Given the description of an element on the screen output the (x, y) to click on. 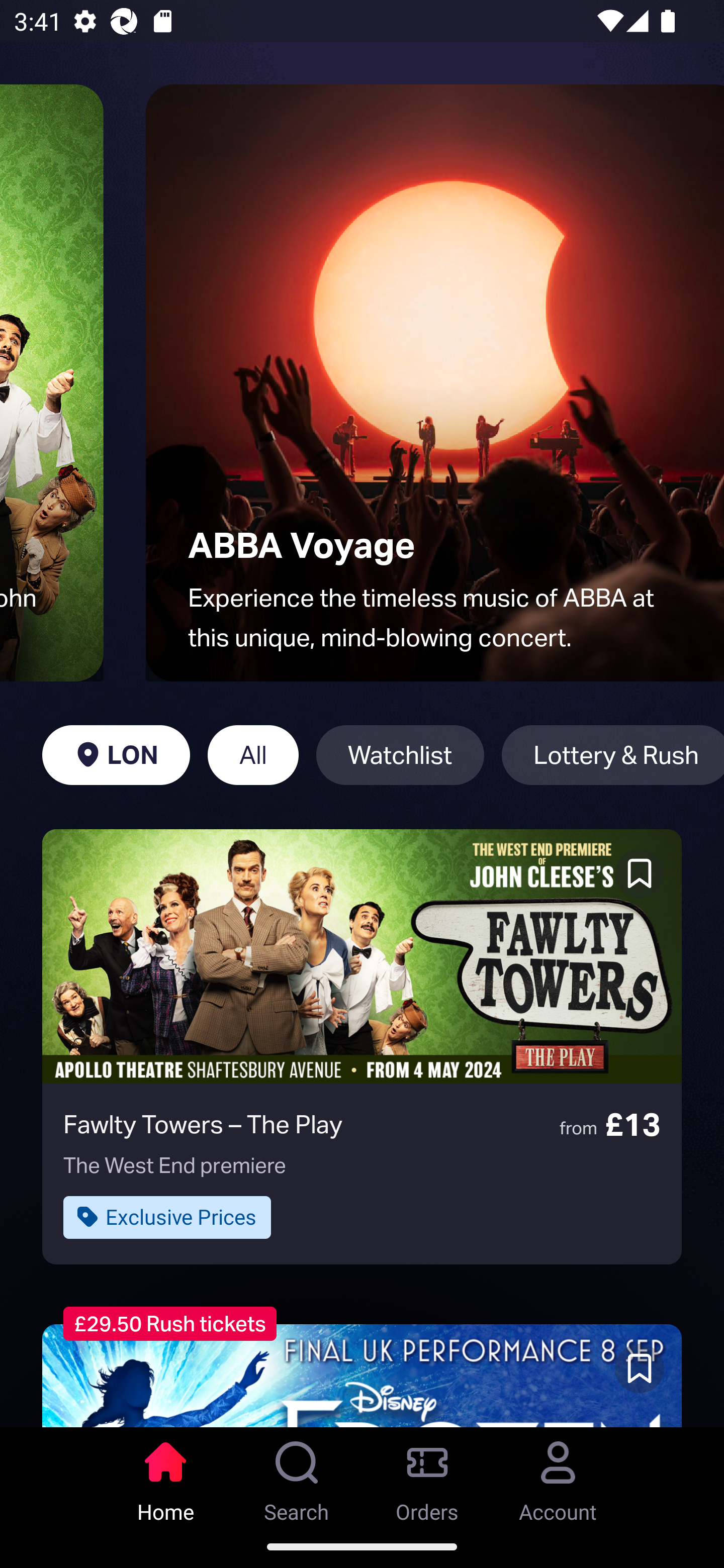
LON (115, 754)
All (252, 754)
Watchlist (400, 754)
Lottery & Rush (612, 754)
Search (296, 1475)
Orders (427, 1475)
Account (558, 1475)
